Given the description of an element on the screen output the (x, y) to click on. 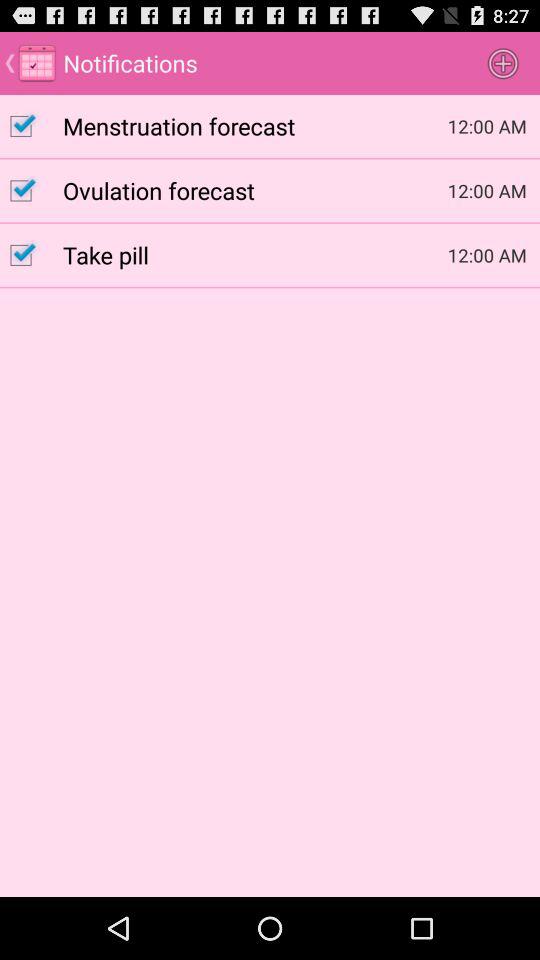
choose item next to notifications app (503, 62)
